Given the description of an element on the screen output the (x, y) to click on. 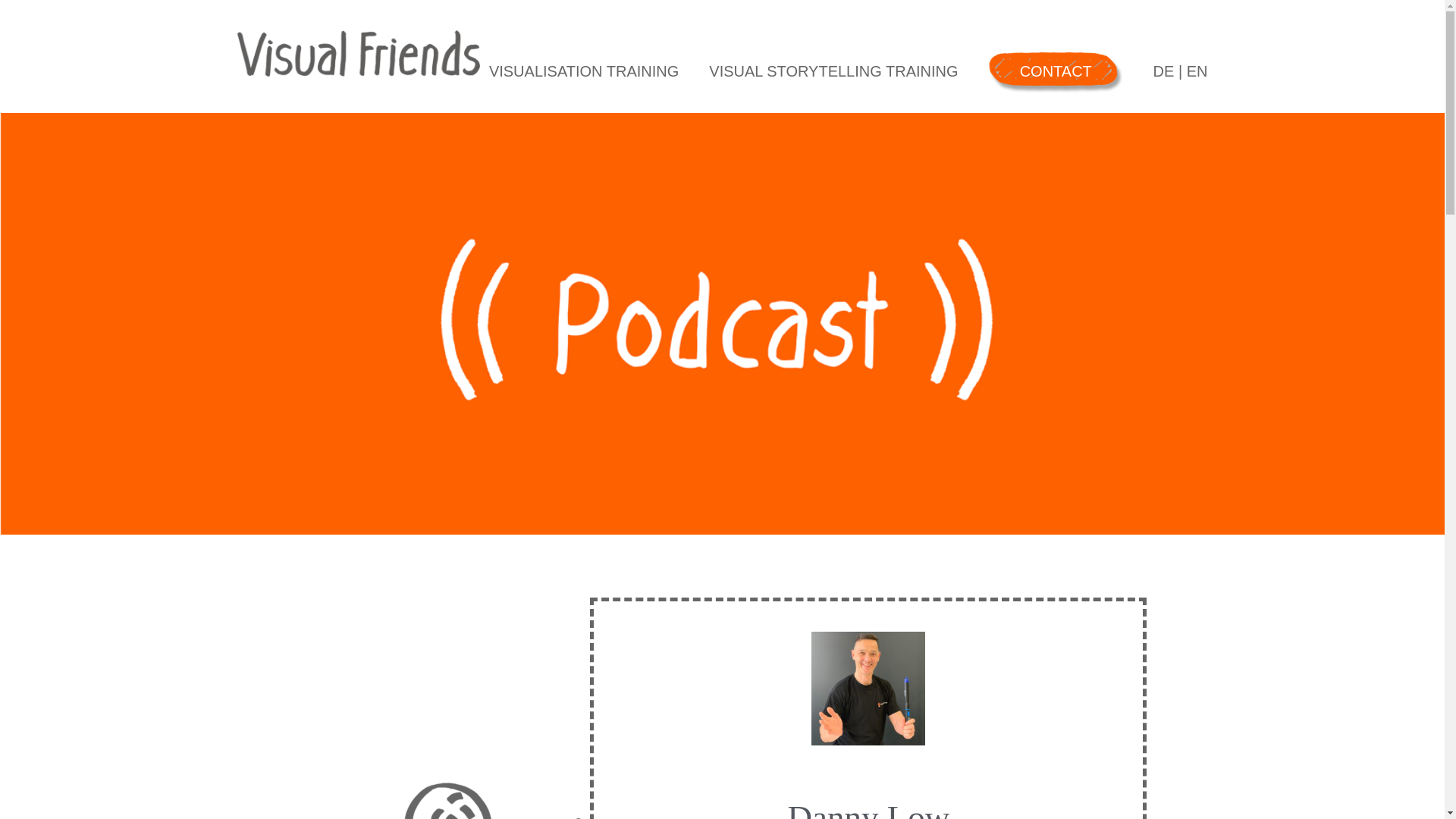
VISUAL STORYTELLING TRAINING (833, 71)
  CONTACT   (1055, 70)
DE (1163, 71)
VISUALISATION TRAINING (583, 71)
EN (1197, 71)
